Given the description of an element on the screen output the (x, y) to click on. 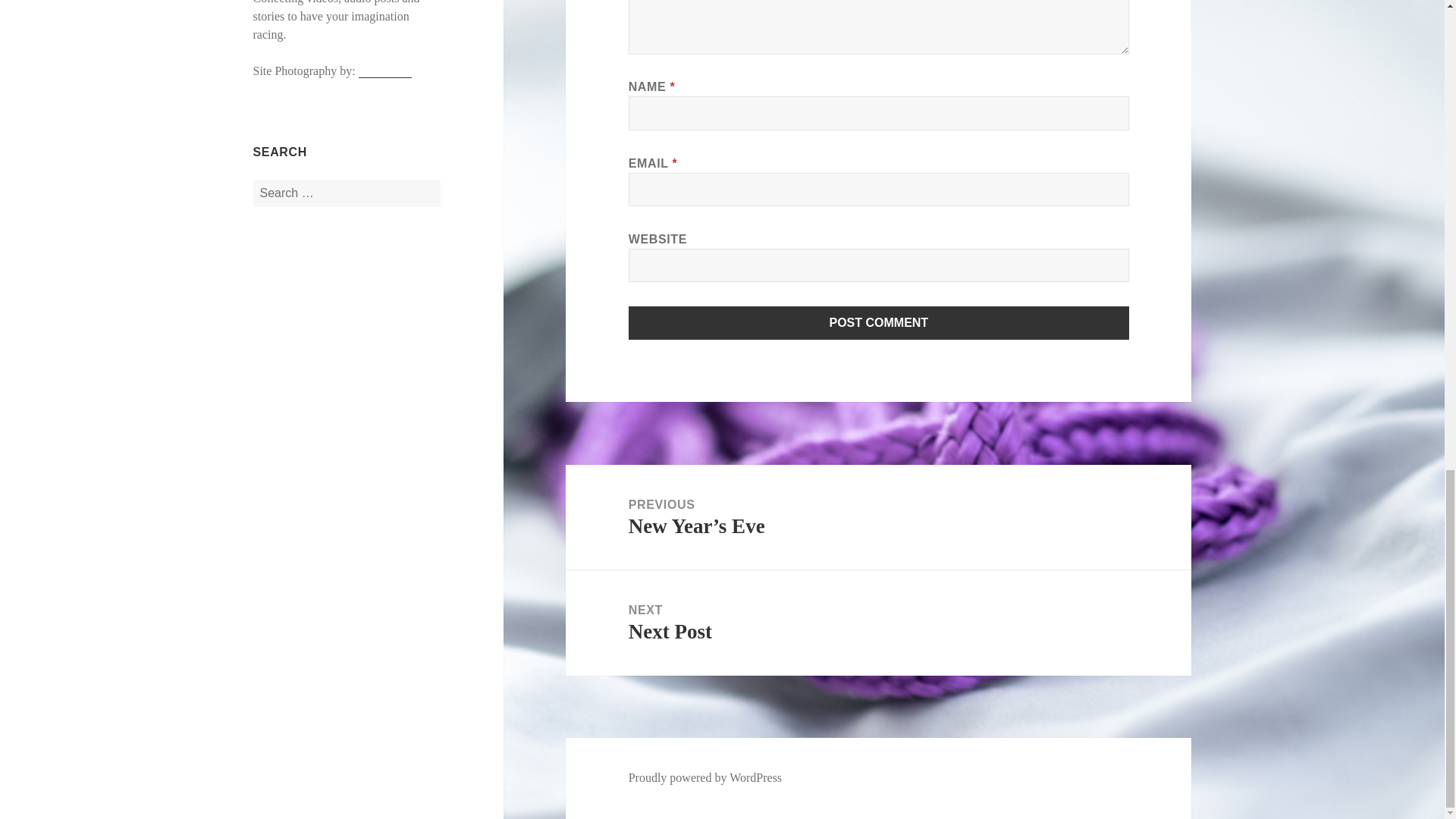
Post Comment (878, 622)
Search (878, 322)
Search (385, 70)
Proudly powered by WordPress (878, 322)
